Given the description of an element on the screen output the (x, y) to click on. 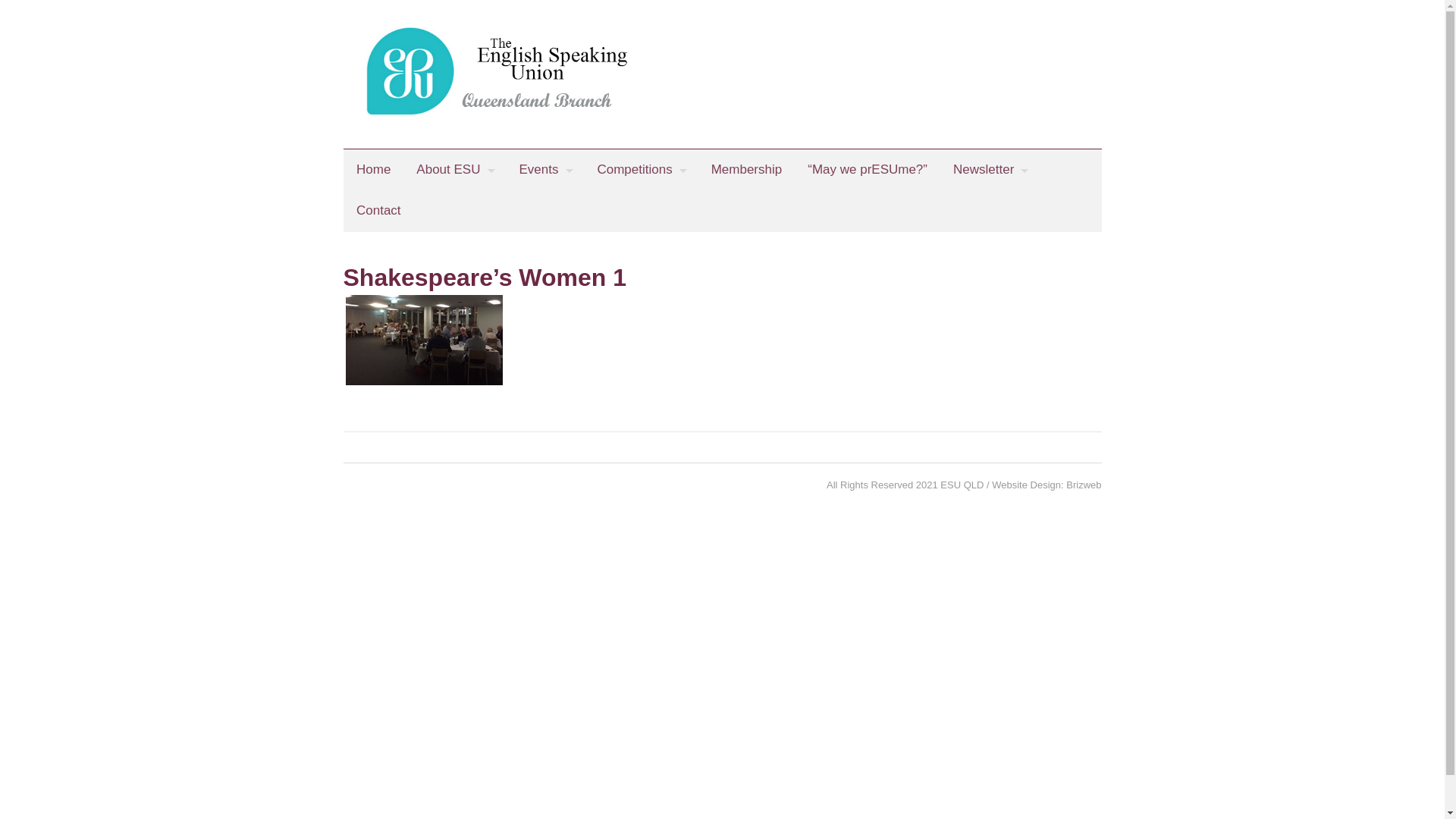
Home Element type: text (372, 169)
Membership Element type: text (745, 169)
Queensland Branch Element type: hover (721, 117)
Contact Element type: text (377, 210)
About ESU Element type: text (454, 169)
Competitions Element type: text (640, 169)
Newsletter Element type: text (988, 169)
Events Element type: text (544, 169)
